Given the description of an element on the screen output the (x, y) to click on. 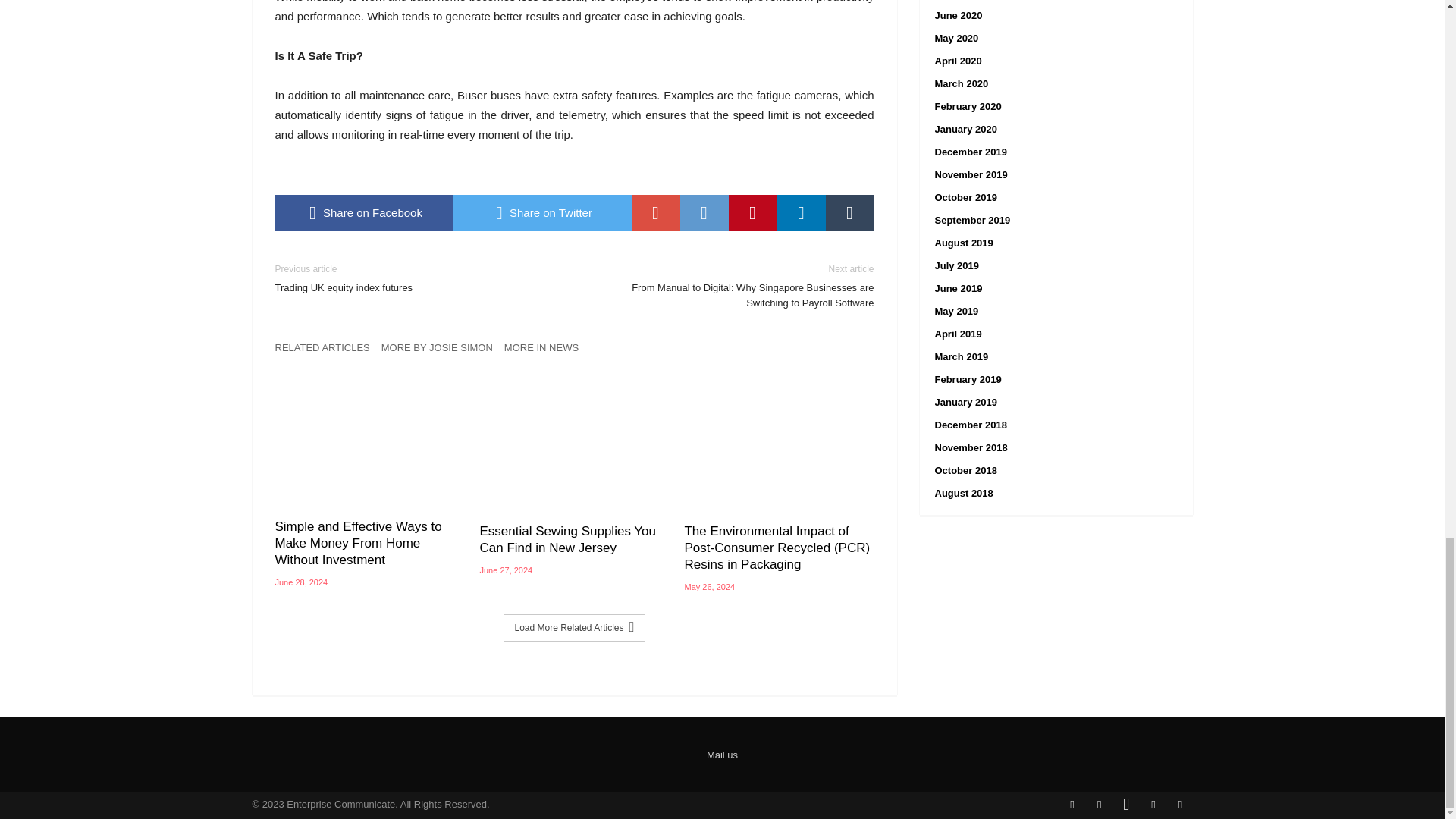
Share on Facebook (363, 212)
